Given the description of an element on the screen output the (x, y) to click on. 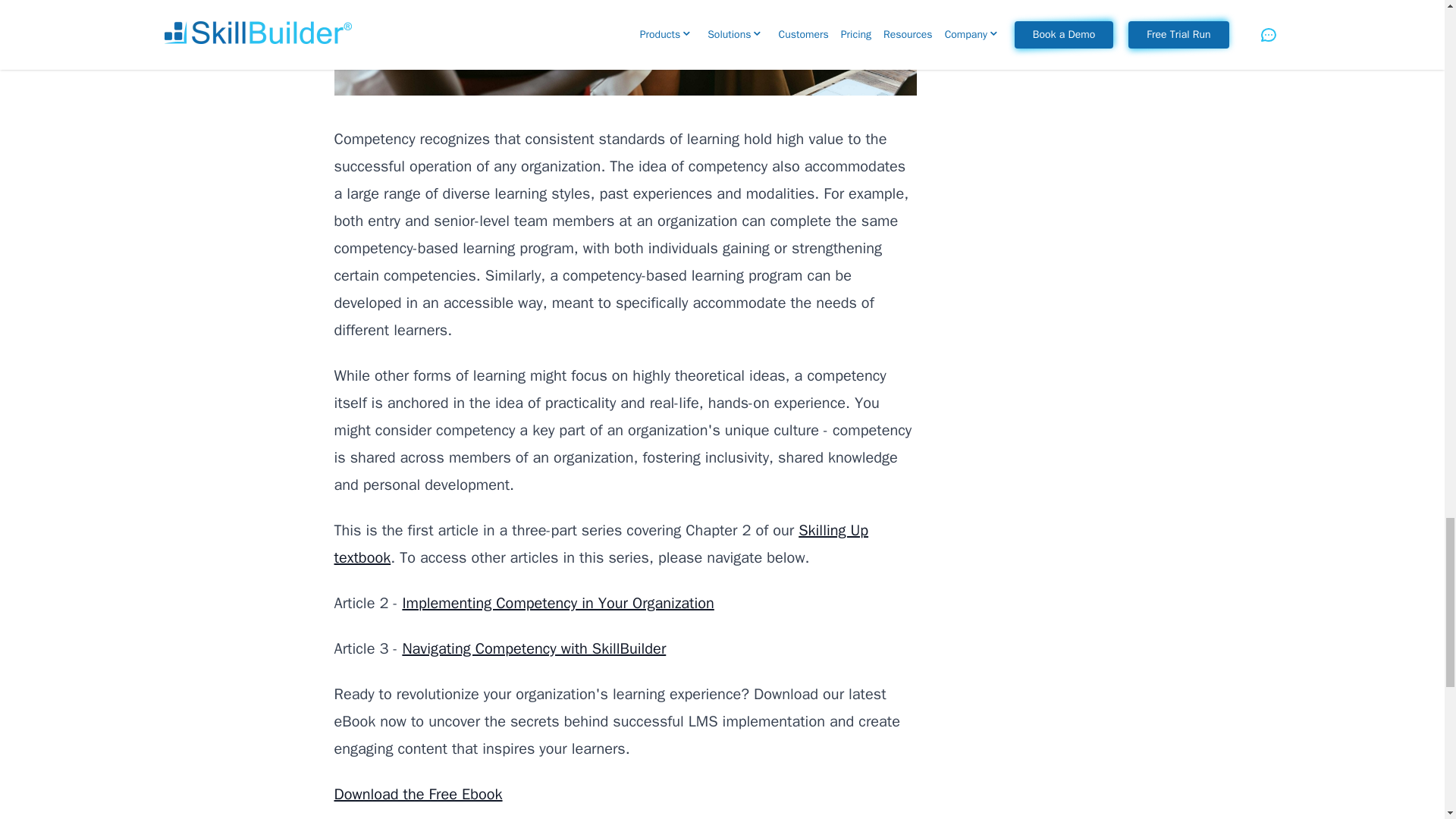
Implementing Competency in Your Organization (557, 602)
Navigating Competency with SkillBuilder (533, 648)
Download the Free Ebook (417, 793)
Skilling Up textbook (600, 543)
